Given the description of an element on the screen output the (x, y) to click on. 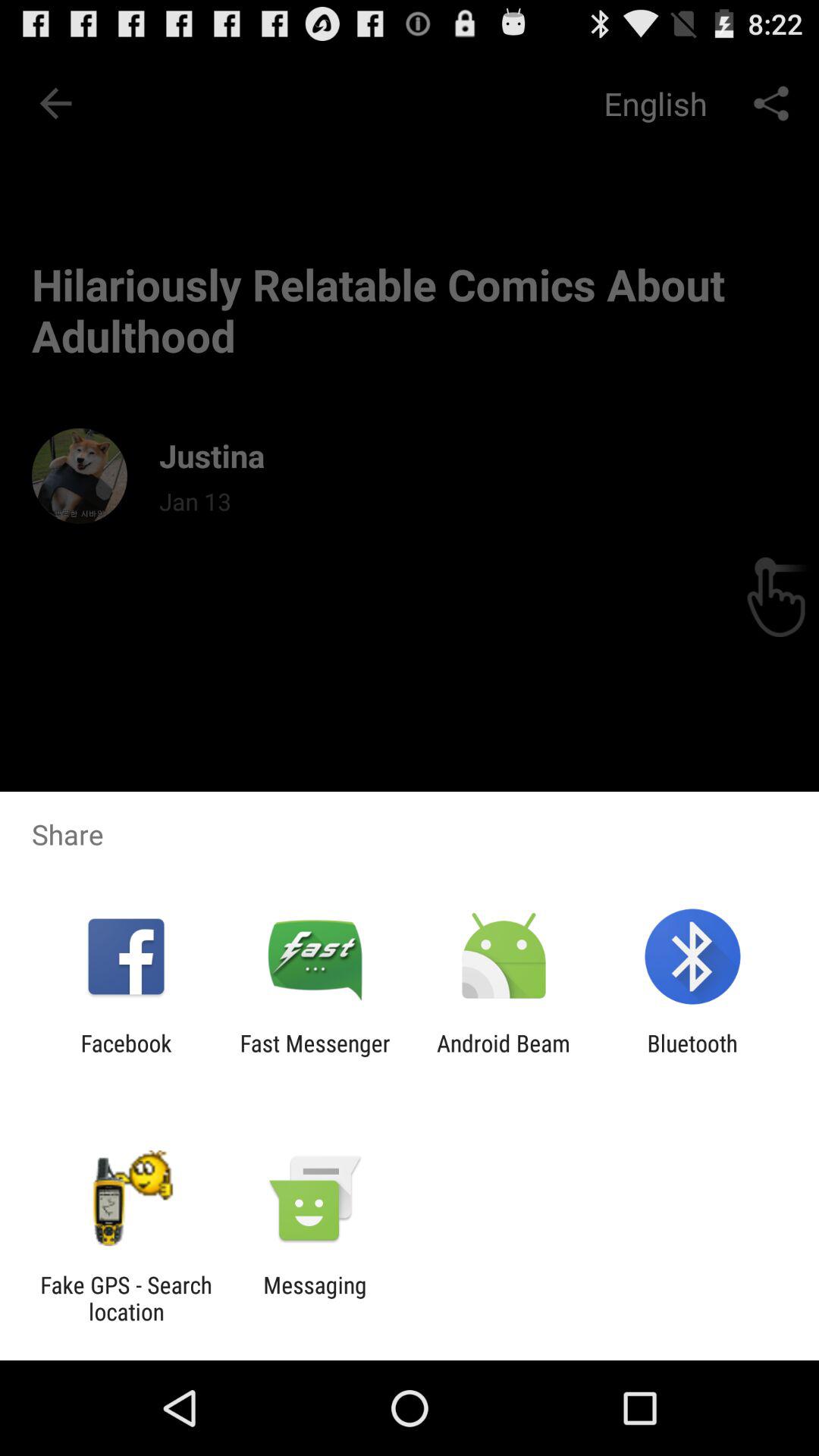
turn off the icon next to android beam item (315, 1056)
